Given the description of an element on the screen output the (x, y) to click on. 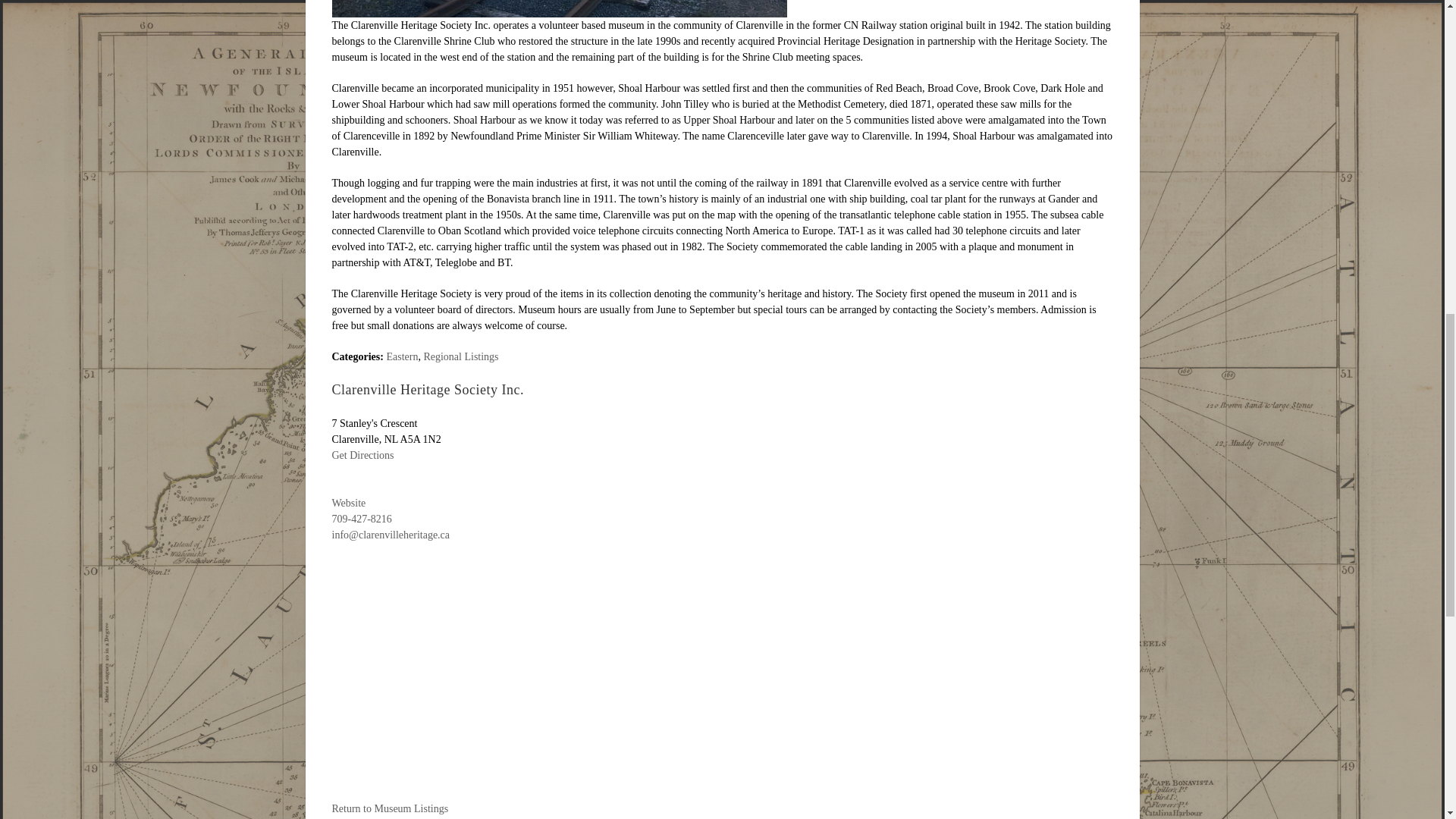
709-427-8216 (361, 518)
Eastern (401, 356)
Return to Museum Listings (389, 808)
Get Directions (362, 455)
Website (348, 502)
Regional Listings (460, 356)
